Given the description of an element on the screen output the (x, y) to click on. 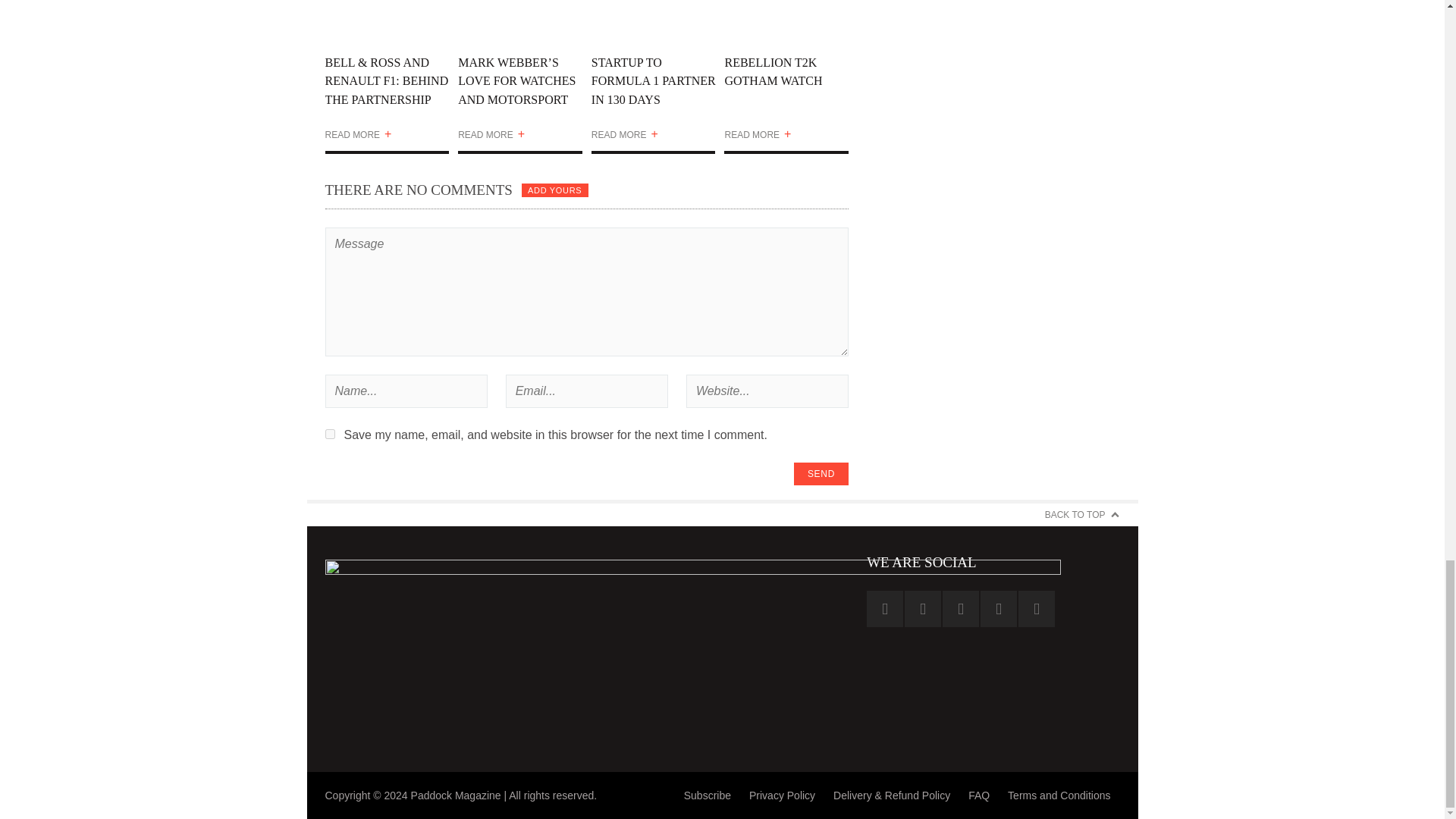
yes (329, 433)
Send (820, 473)
